Given the description of an element on the screen output the (x, y) to click on. 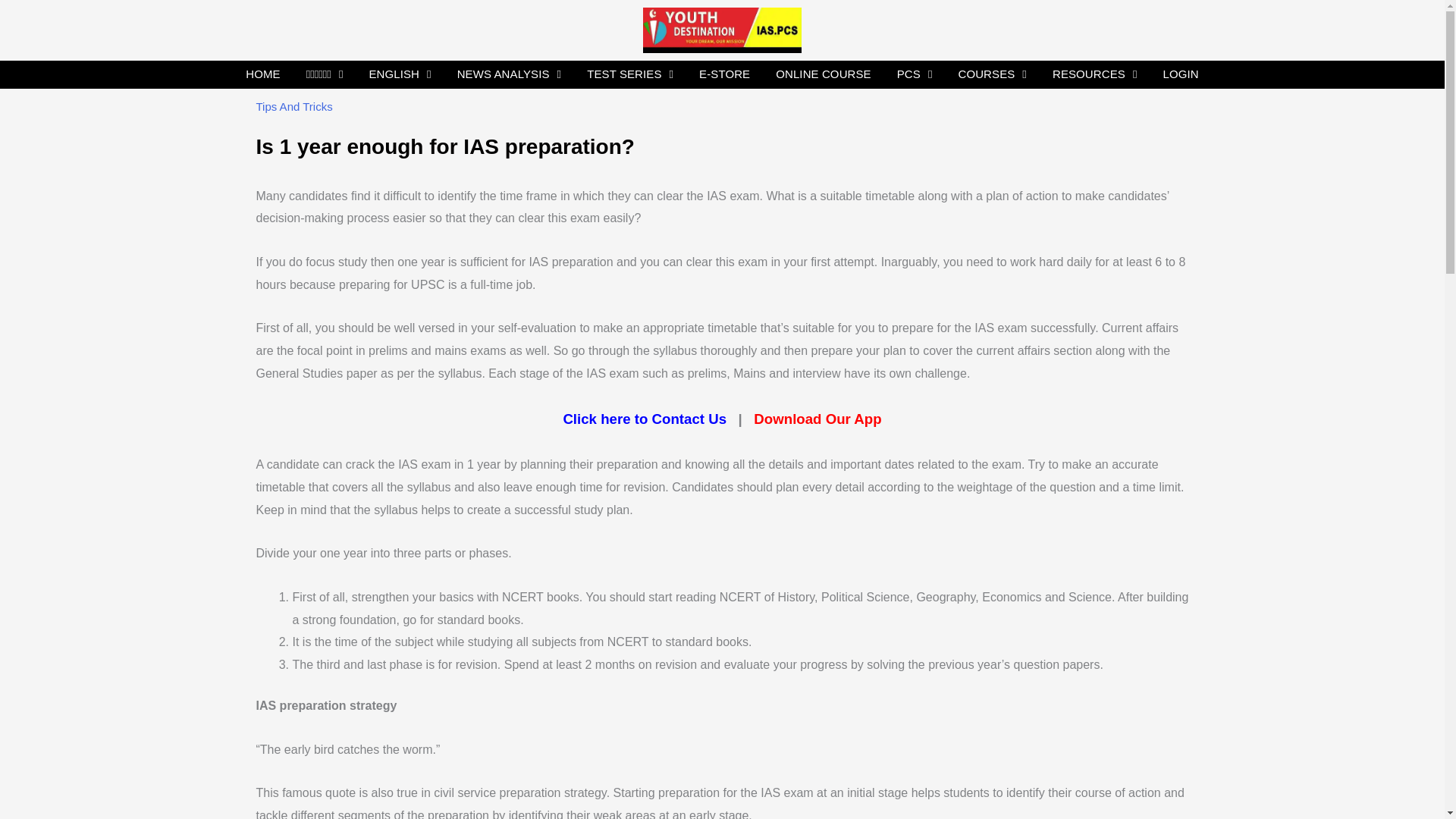
TEST SERIES (629, 74)
ENGLISH (400, 74)
NEWS ANALYSIS (509, 74)
HOME (262, 74)
